Given the description of an element on the screen output the (x, y) to click on. 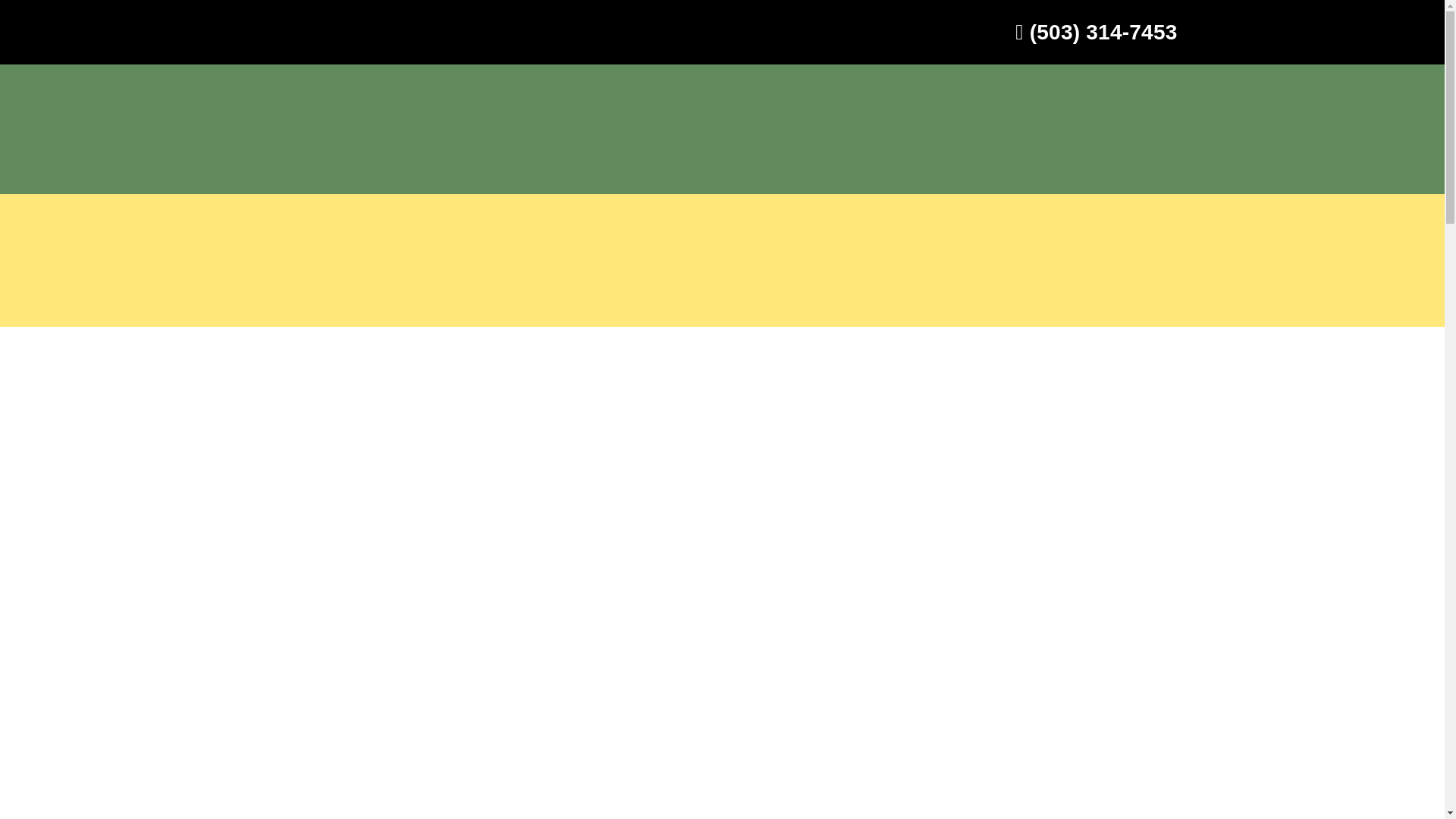
upholstery cleaning portland or (478, 807)
